Given the description of an element on the screen output the (x, y) to click on. 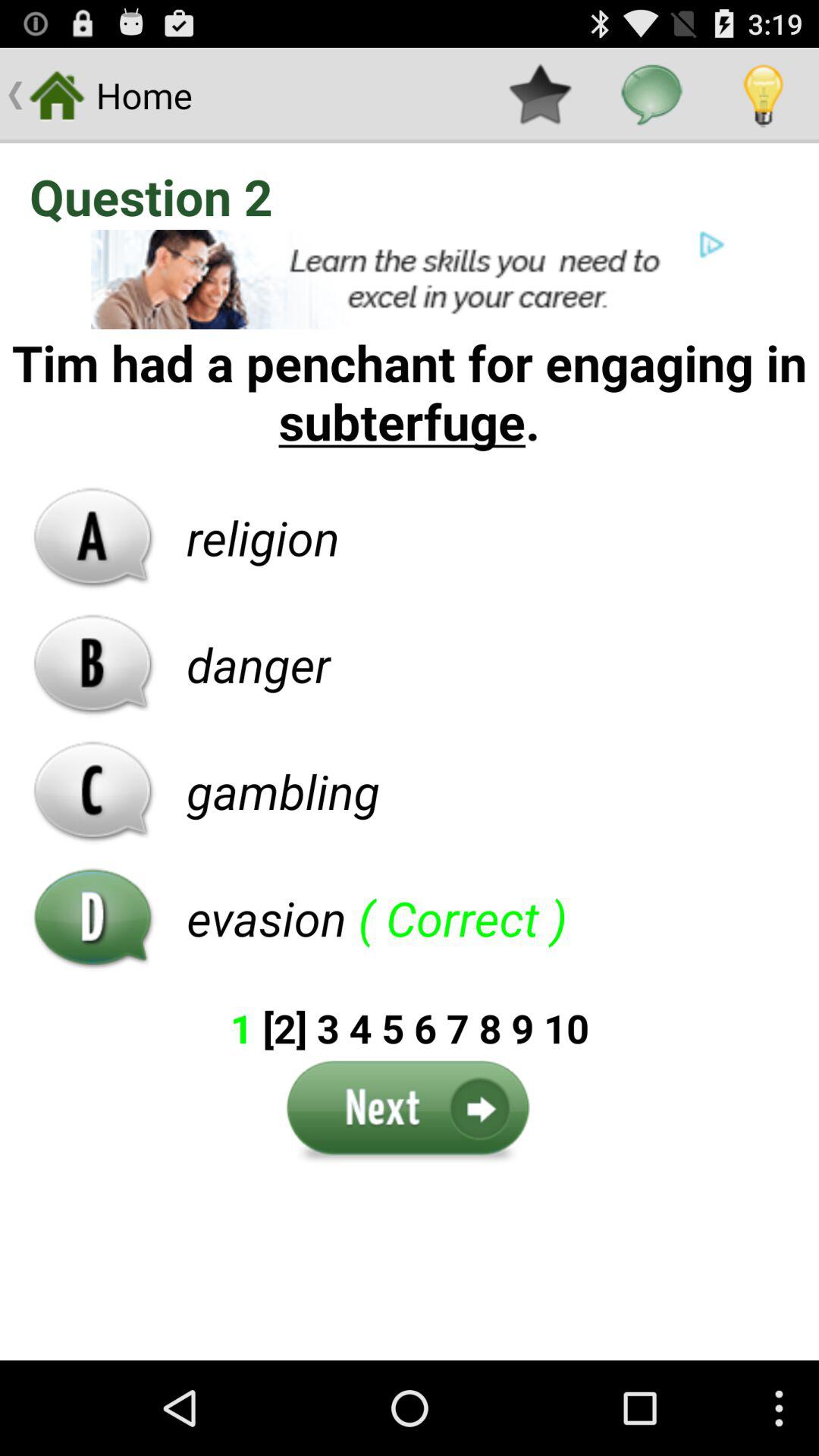
click to see an advertisement (409, 279)
